Given the description of an element on the screen output the (x, y) to click on. 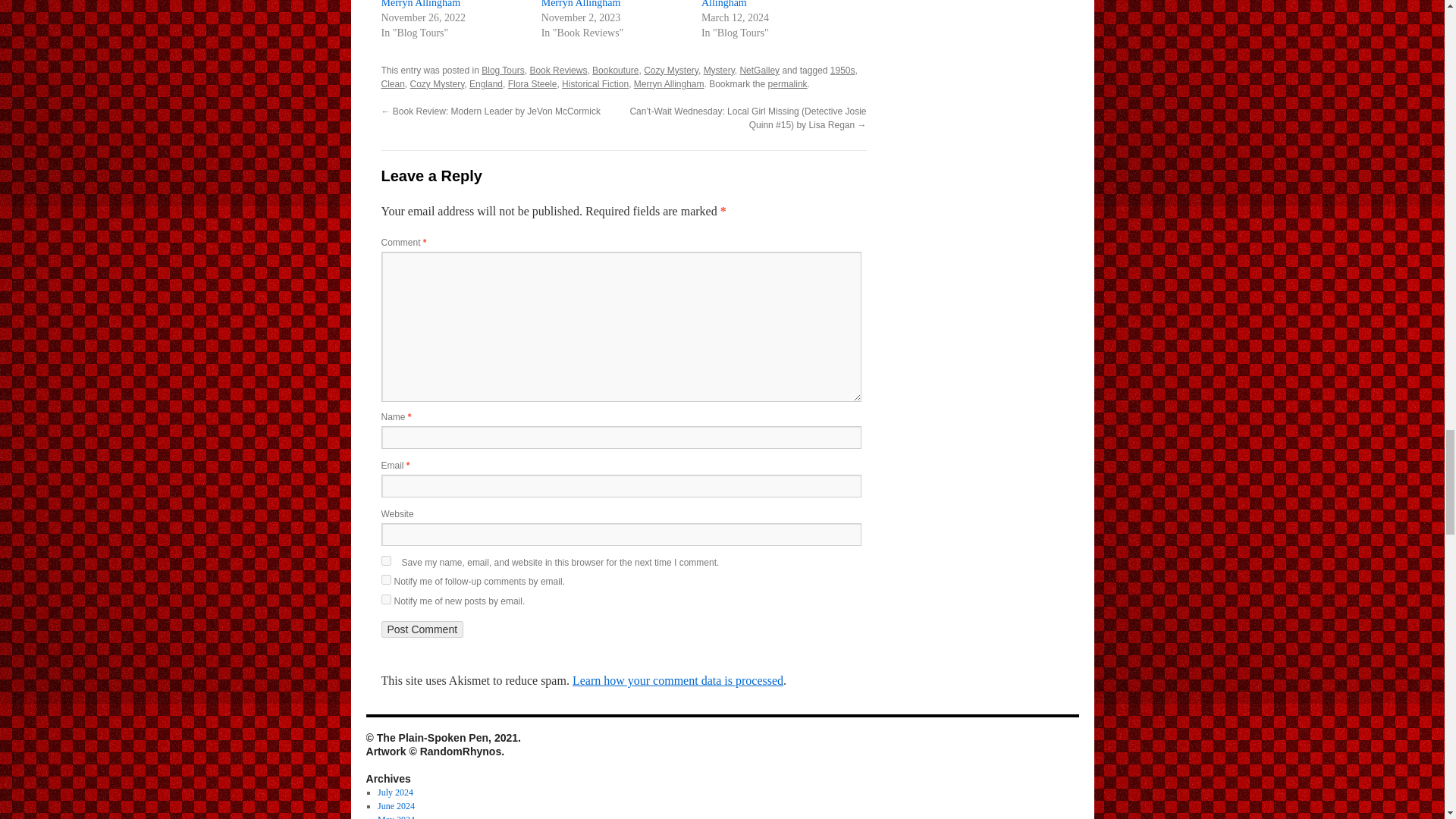
subscribe (385, 599)
subscribe (385, 579)
Cozy Mystery (437, 83)
NetGalley (758, 70)
Historical Fiction (595, 83)
Merryn Allingham (668, 83)
Cozy Mystery (670, 70)
permalink (788, 83)
England (485, 83)
Blog Tours (502, 70)
Post Comment (421, 629)
Book Reviews (557, 70)
